Given the description of an element on the screen output the (x, y) to click on. 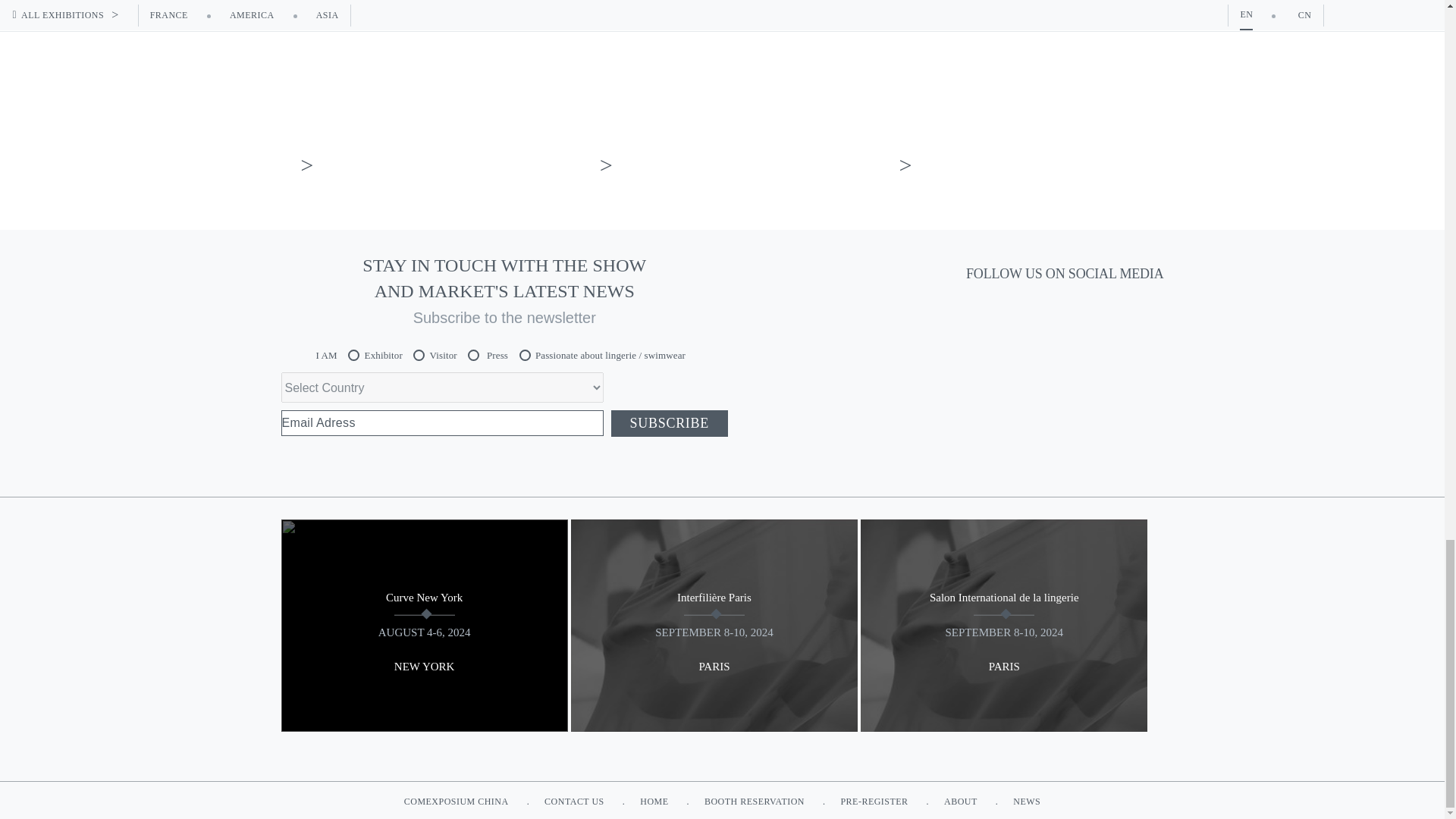
linkedin (1030, 313)
Facebook (1121, 313)
instagram (985, 313)
WeChat (1075, 313)
